Given the description of an element on the screen output the (x, y) to click on. 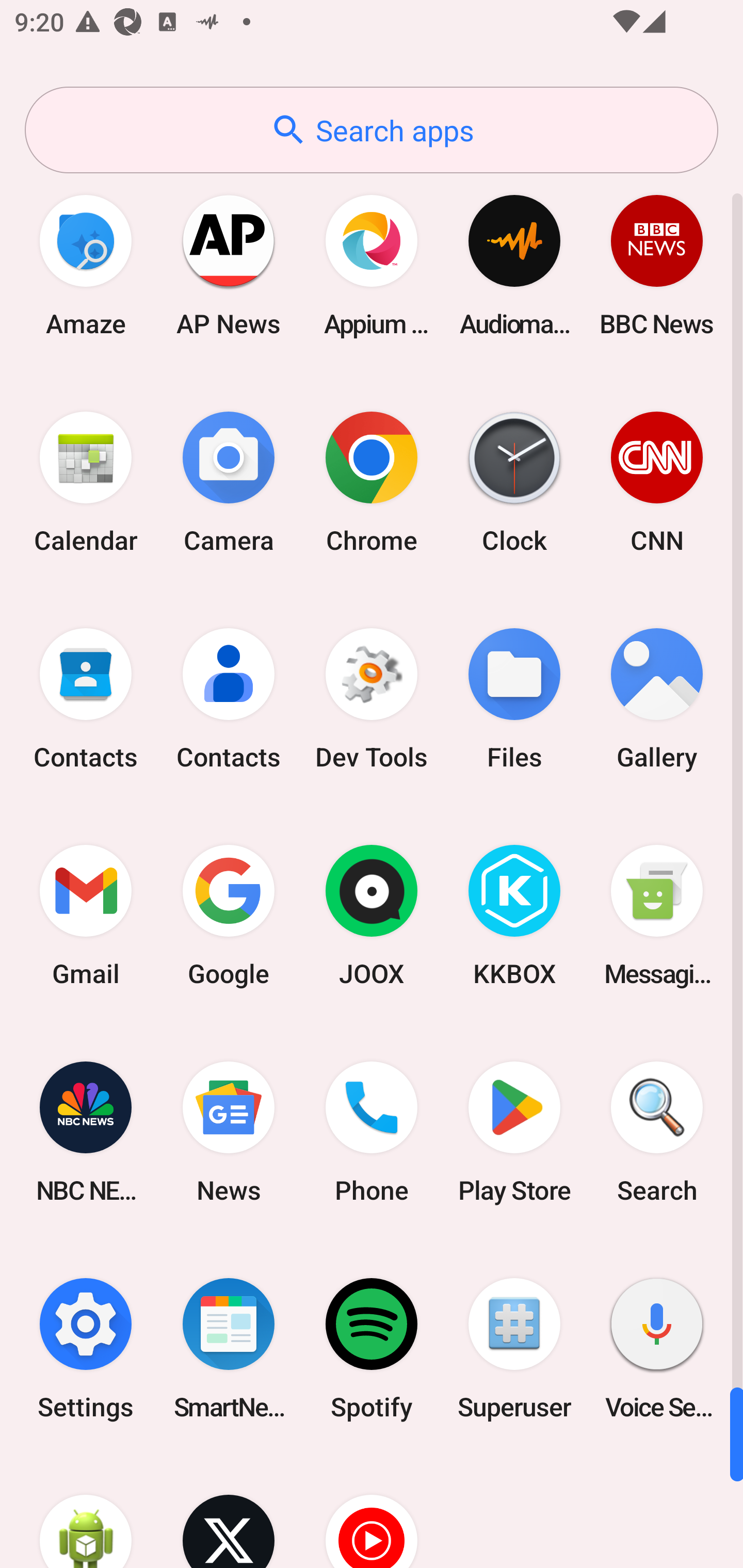
  Search apps (371, 130)
Amaze (85, 264)
AP News (228, 264)
Appium Settings (371, 264)
Audio­mack (514, 264)
BBC News (656, 264)
Calendar (85, 482)
Camera (228, 482)
Chrome (371, 482)
Clock (514, 482)
CNN (656, 482)
Contacts (85, 699)
Contacts (228, 699)
Dev Tools (371, 699)
Files (514, 699)
Gallery (656, 699)
Gmail (85, 915)
Google (228, 915)
JOOX (371, 915)
KKBOX (514, 915)
Messaging (656, 915)
NBC NEWS (85, 1131)
News (228, 1131)
Phone (371, 1131)
Play Store (514, 1131)
Search (656, 1131)
Settings (85, 1348)
SmartNews (228, 1348)
Spotify (371, 1348)
Superuser (514, 1348)
Voice Search (656, 1348)
